Given the description of an element on the screen output the (x, y) to click on. 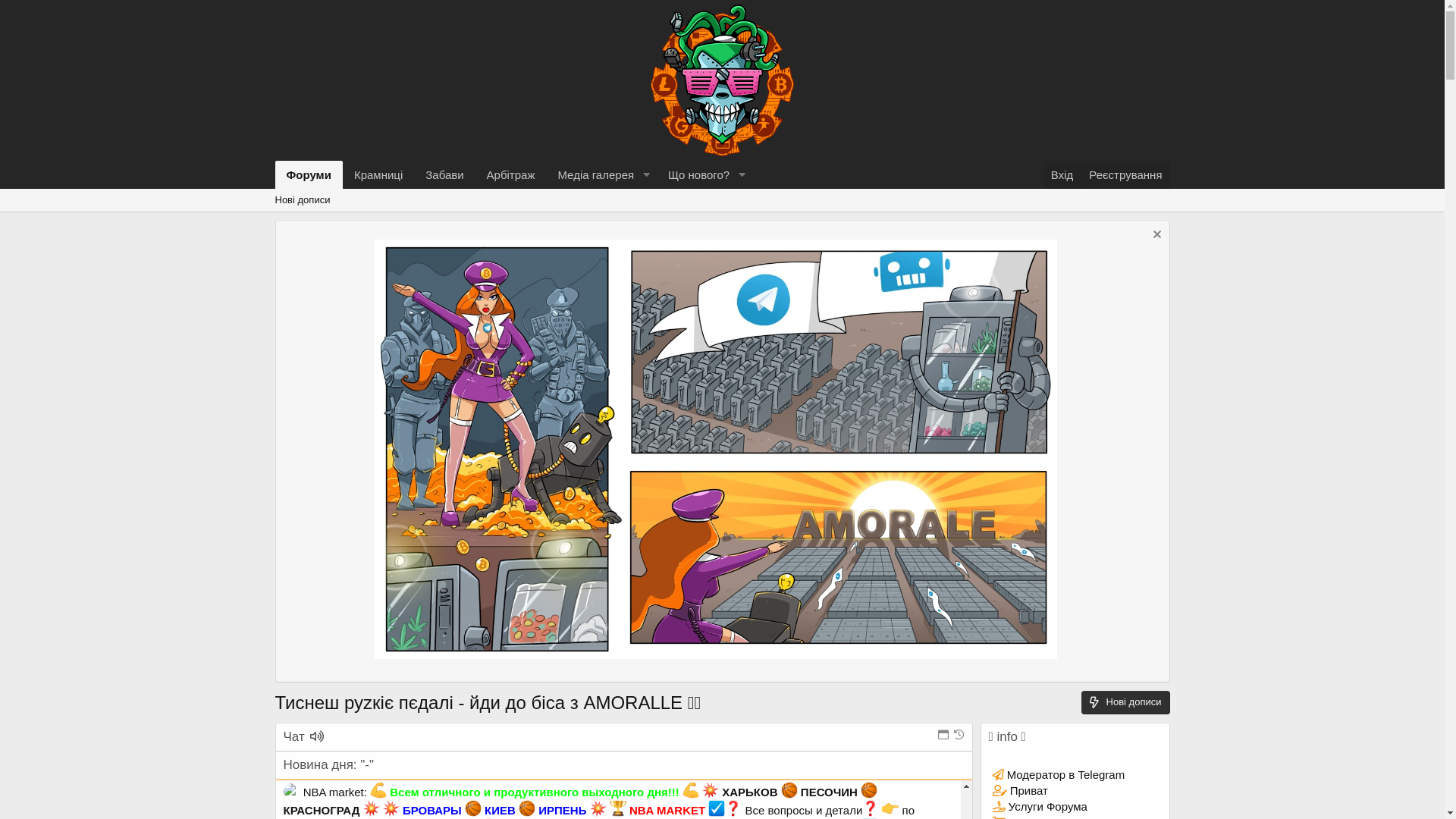
Gallant_Support Element type: text (344, 222)
Man technologist    :man_technologist: Element type: hover (399, 11)
Basketball    :basketball: Element type: hover (526, 808)
pinksyndicate Element type: text (337, 171)
Miss_Pafoss Element type: text (335, 31)
Gallant_Support Element type: text (344, 463)
AMG_supp Element type: text (331, 653)
TipTop Element type: text (319, 634)
Basketball    :basketball: Element type: hover (868, 789)
Smiling face with horns    :smiling_imp: Element type: hover (589, 11)
Flexed biceps    :muscle: Element type: hover (690, 789)
Stuff24vip Element type: text (328, 530)
Collision    :boom: Element type: hover (597, 808)
Collision    :boom: Element type: hover (710, 789)
https://pechkin.vip/ Element type: text (731, 12)
hollywood_help Element type: text (342, 599)
NBA market Element type: text (333, 791)
Flexed biceps    :muscle: Element type: hover (378, 789)
CnBbb Element type: text (320, 342)
Trophy    :trophy: Element type: hover (617, 808)
Basketball    :basketball: Element type: hover (472, 808)
Clan13 Element type: text (321, 288)
https://24tip.top/ Element type: text (743, 634)
https://stuff.bot.legal/ Element type: text (411, 530)
Question mark    :question: Element type: hover (870, 808)
Question mark    :question: Element type: hover (732, 808)
Basketball    :basketball: Element type: hover (789, 789)
Collision    :boom: Element type: hover (390, 808)
Woman technologist    :woman_technologist: Element type: hover (609, 11)
https://amoralle.cc/threads/sumy-otkrytie-proby.14033 Element type: text (657, 653)
https://pxl.pm/yvKRXfba90/6rEXkVeFX Element type: text (443, 66)
Backhand index pointing right    :point_right: Element type: hover (889, 808)
hollywood_help Element type: text (342, 307)
Collision    :boom: Element type: hover (371, 808)
Ballot box with check    :ballot_box_with_check: Element type: hover (716, 808)
Clan13 Element type: text (321, 66)
hollywood_help Element type: text (342, 136)
Gallant_Support Element type: text (344, 723)
